Given the description of an element on the screen output the (x, y) to click on. 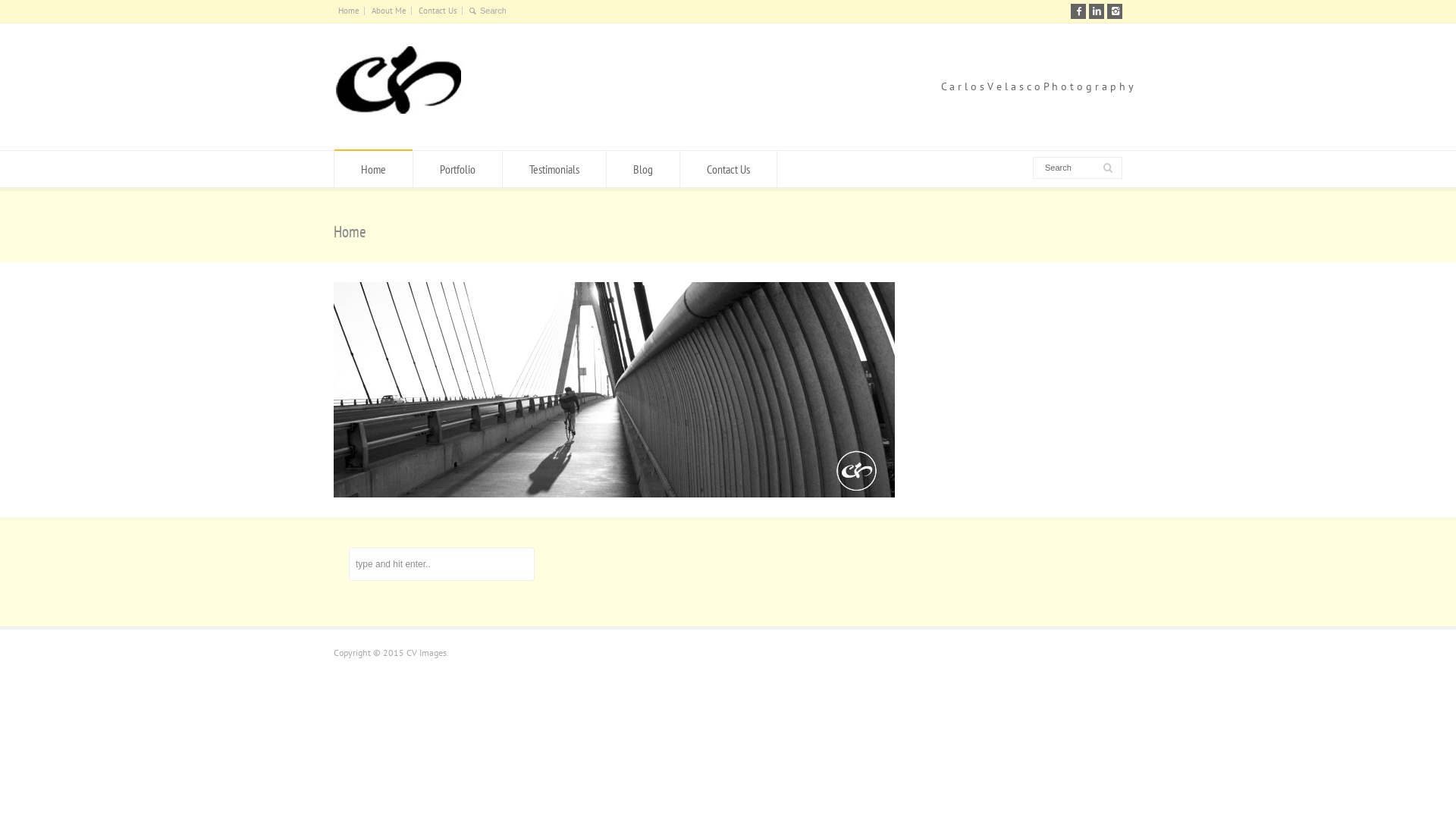
Contact Us Element type: text (728, 168)
Blog Element type: text (642, 168)
Home Element type: text (373, 168)
Portfolio Element type: text (457, 168)
Linkedin Element type: hover (1096, 10)
Testimonials Element type: text (553, 168)
Instagram Element type: hover (1114, 10)
Contact Us Element type: text (437, 10)
Home Element type: text (348, 10)
 CV Images   Element type: hover (398, 121)
About Me Element type: text (388, 10)
Facebook Element type: hover (1077, 10)
